Given the description of an element on the screen output the (x, y) to click on. 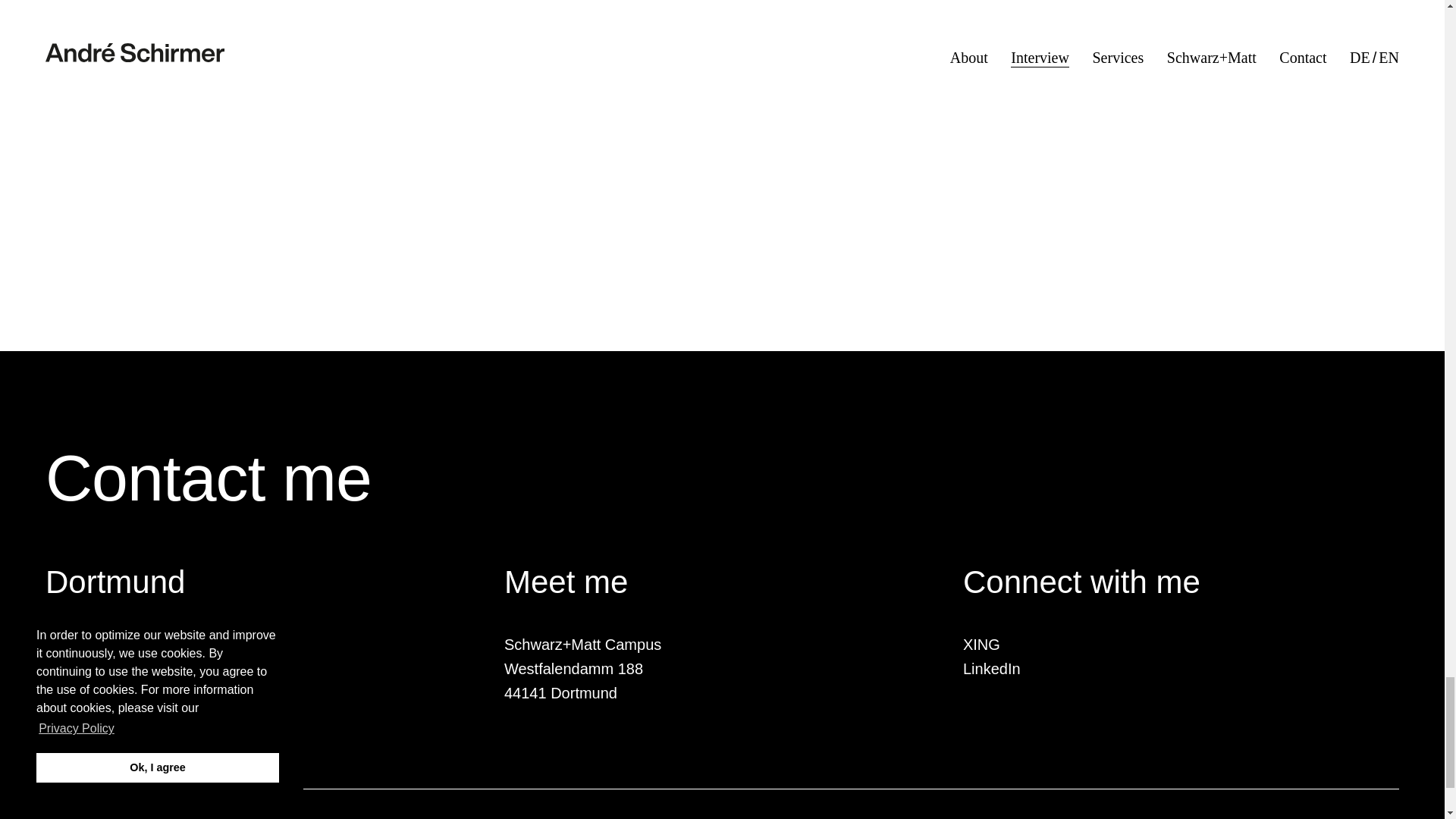
Linked In (991, 668)
Xing (981, 644)
XING (981, 644)
0231 177283-0 (96, 644)
LinkedIn (991, 668)
